Given the description of an element on the screen output the (x, y) to click on. 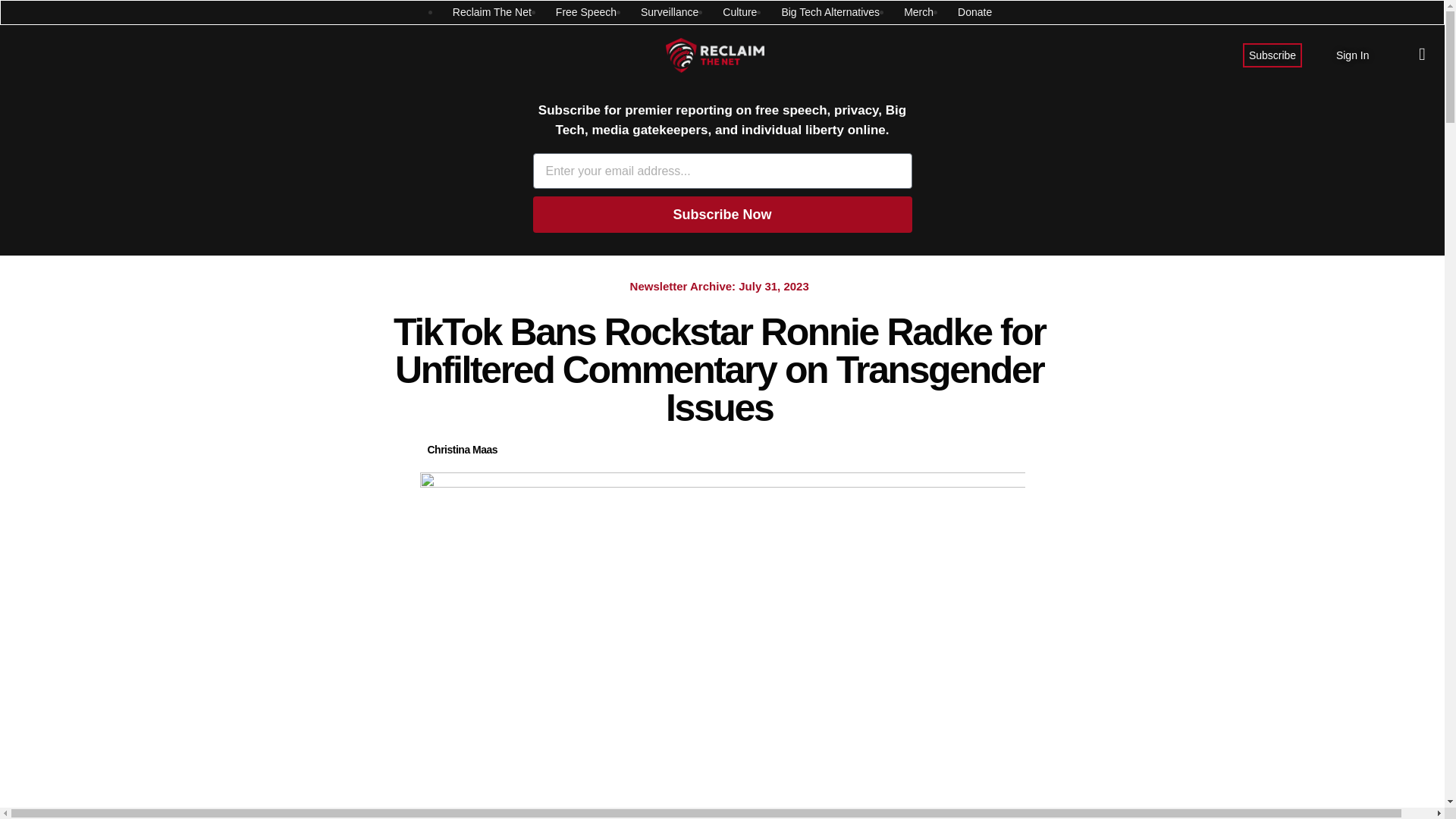
Sign In (1353, 55)
Subscribe (1272, 55)
Free Speech (585, 12)
Christina Maas (462, 449)
Surveillance (669, 12)
Reclaim The Net (491, 12)
Culture (739, 12)
Merch (918, 12)
Donate (974, 12)
Subscribe Now (721, 214)
